Given the description of an element on the screen output the (x, y) to click on. 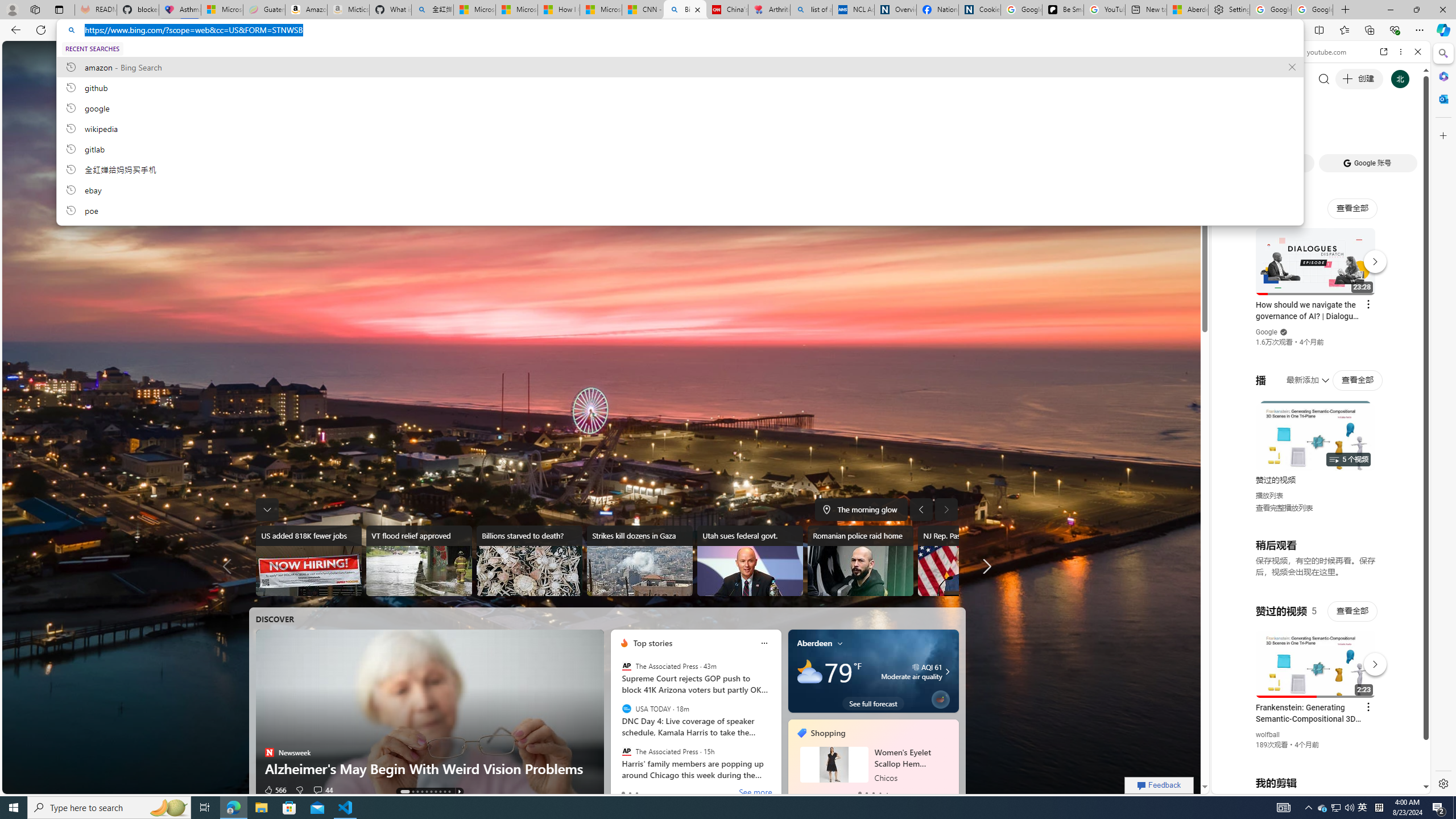
Dislike (298, 789)
Class: dict_pnIcon rms_img (1312, 784)
CNN - MSN (642, 9)
Web scope (1230, 102)
Asthma Inhalers: Names and Types (179, 9)
Shopping (410, 54)
WEB   (1230, 130)
Favorites (1344, 29)
More options (1401, 51)
More news (983, 566)
Moderate air quality (945, 671)
Eugene (987, 54)
Google (1266, 331)
